Given the description of an element on the screen output the (x, y) to click on. 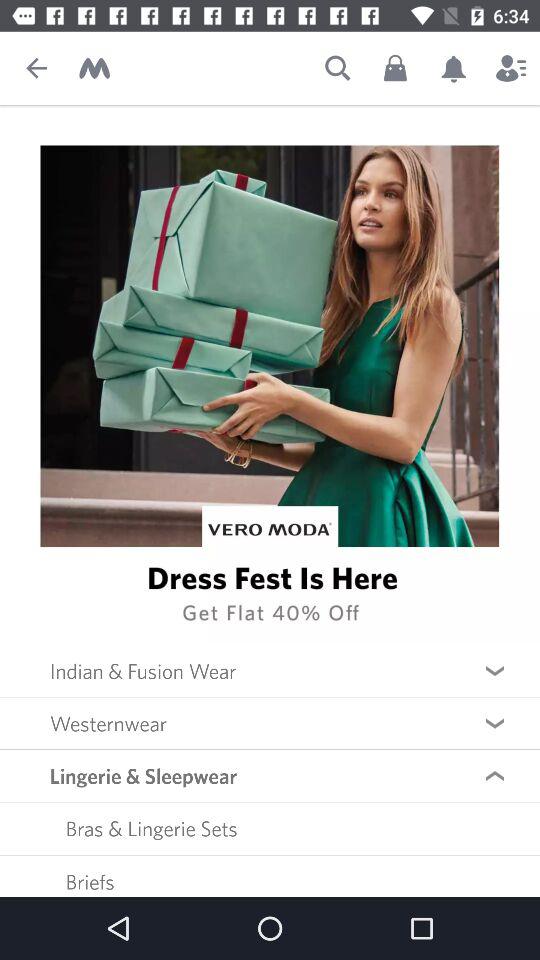
open search menu/bar (337, 68)
